Given the description of an element on the screen output the (x, y) to click on. 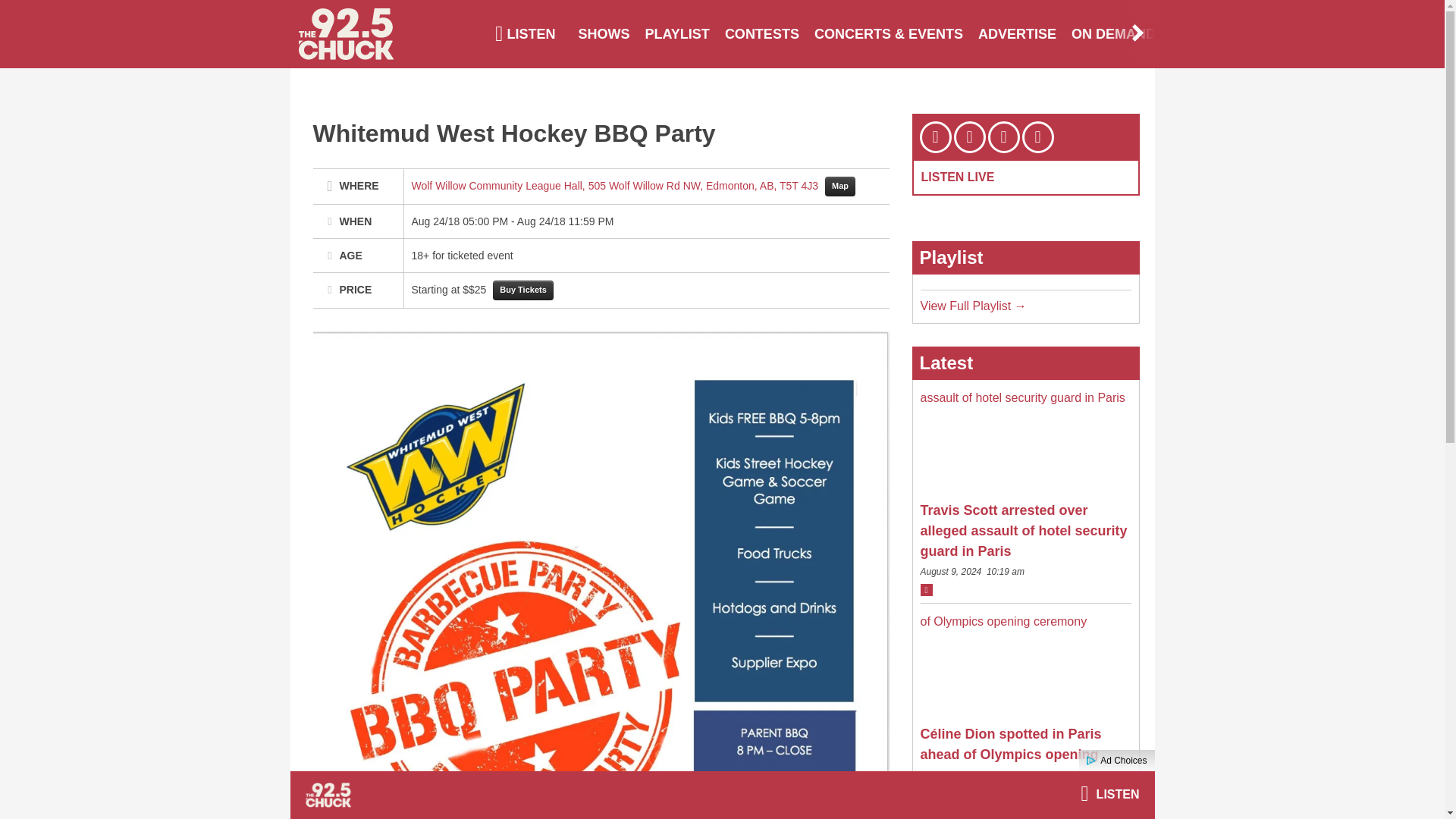
SEARCH (1199, 33)
Buy Tickets (523, 290)
CONTESTS (761, 33)
ADVERTISE (1017, 33)
Map (840, 186)
ON DEMAND (1113, 33)
Listen live (1109, 793)
LISTEN (525, 33)
LISTEN LIVE (957, 176)
